Given the description of an element on the screen output the (x, y) to click on. 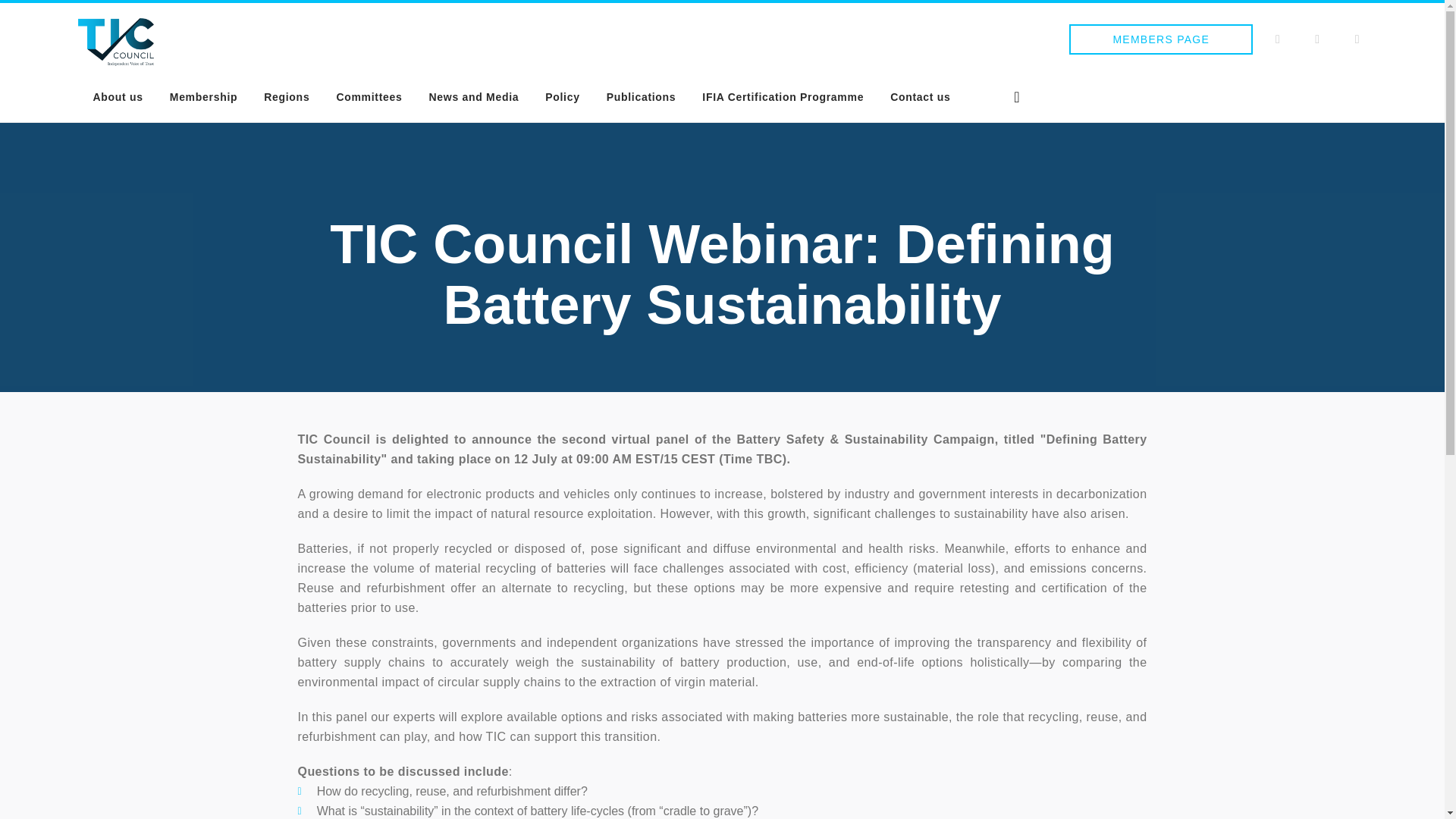
Regions (285, 97)
Policy (561, 97)
Committees (368, 97)
Membership (203, 97)
MEMBERS PAGE (1160, 39)
About us (117, 97)
News and Media (474, 97)
